Given the description of an element on the screen output the (x, y) to click on. 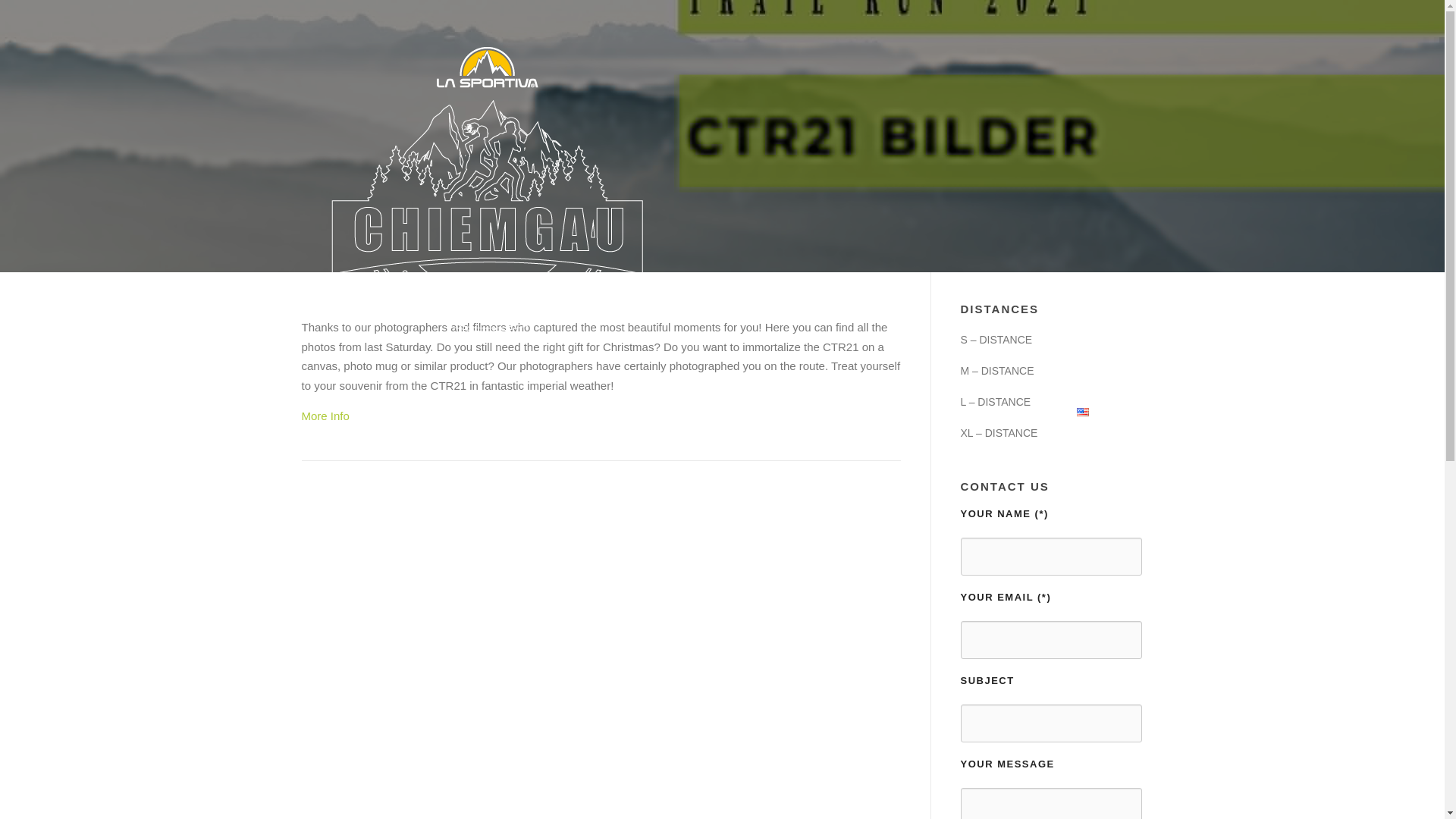
Distances (605, 411)
Trail Running Camp 2024 (793, 411)
Partner (901, 411)
Eventinfo (680, 411)
More Info (325, 415)
English (1103, 411)
